Given the description of an element on the screen output the (x, y) to click on. 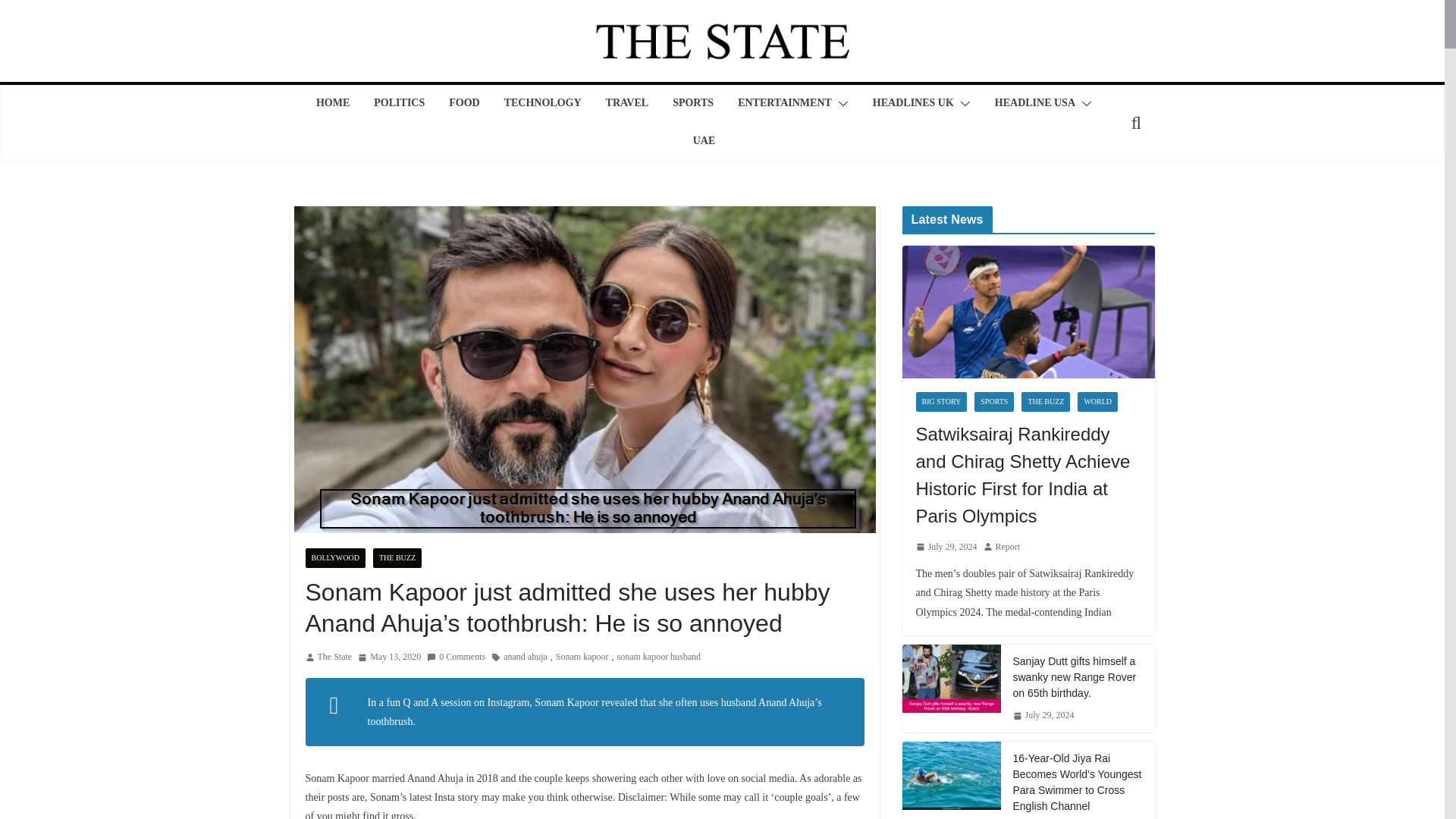
SPORTS (692, 103)
TECHNOLOGY (541, 103)
The State (334, 657)
HOME (332, 103)
sonam kapoor husband (657, 657)
TRAVEL (627, 103)
The State (334, 657)
0 Comments (455, 657)
POLITICS (399, 103)
HEADLINE USA (1034, 103)
UAE (704, 141)
6:59 am (389, 657)
THE BUZZ (397, 557)
BOLLYWOOD (334, 557)
anand ahuja (525, 657)
